Given the description of an element on the screen output the (x, y) to click on. 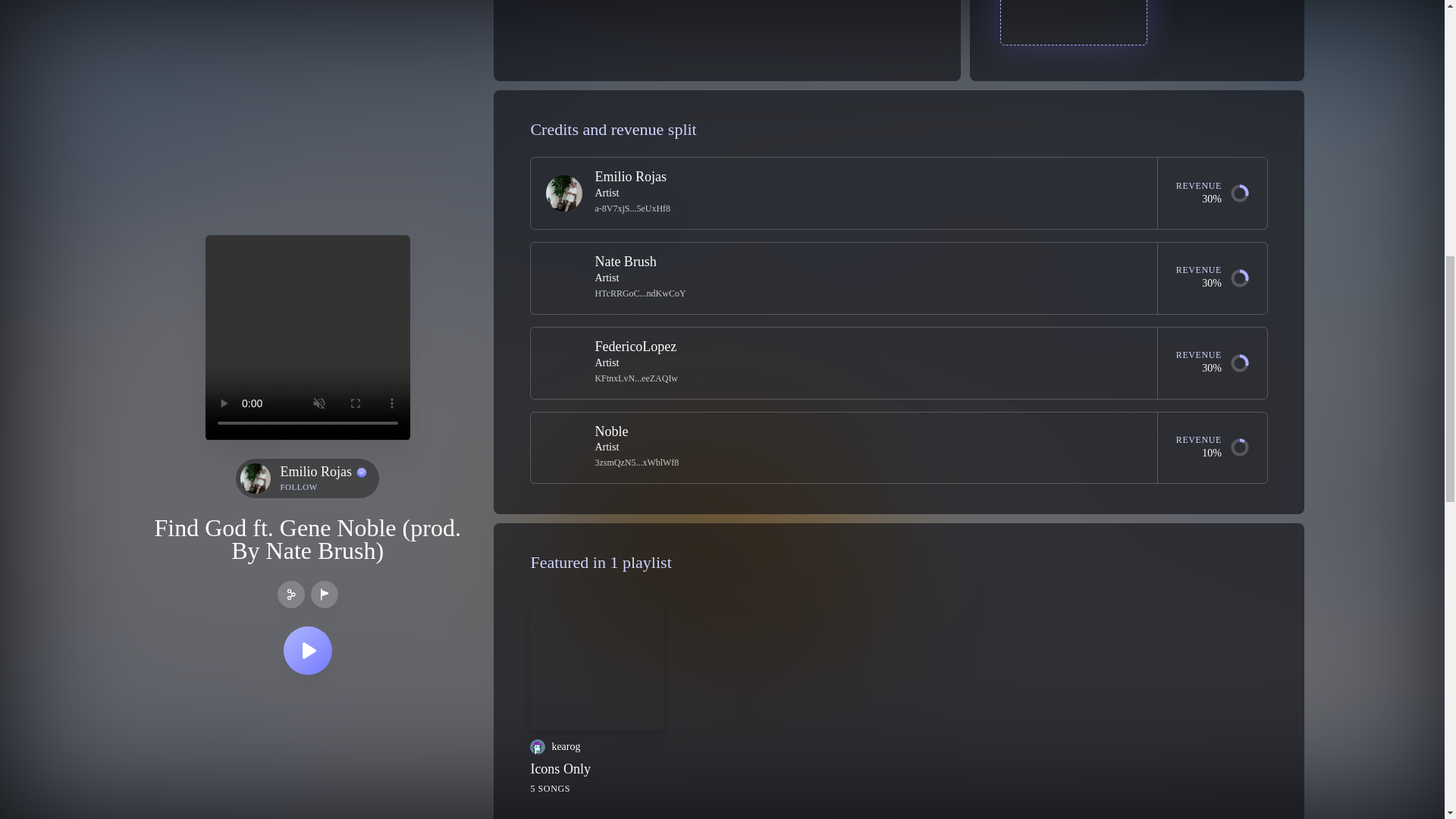
KFtnxLvN...eeZAQIw (636, 377)
a-8V7xjS...5eUxHf8 (631, 206)
HTcRRGoC...ndKwCoY (875, 268)
